Given the description of an element on the screen output the (x, y) to click on. 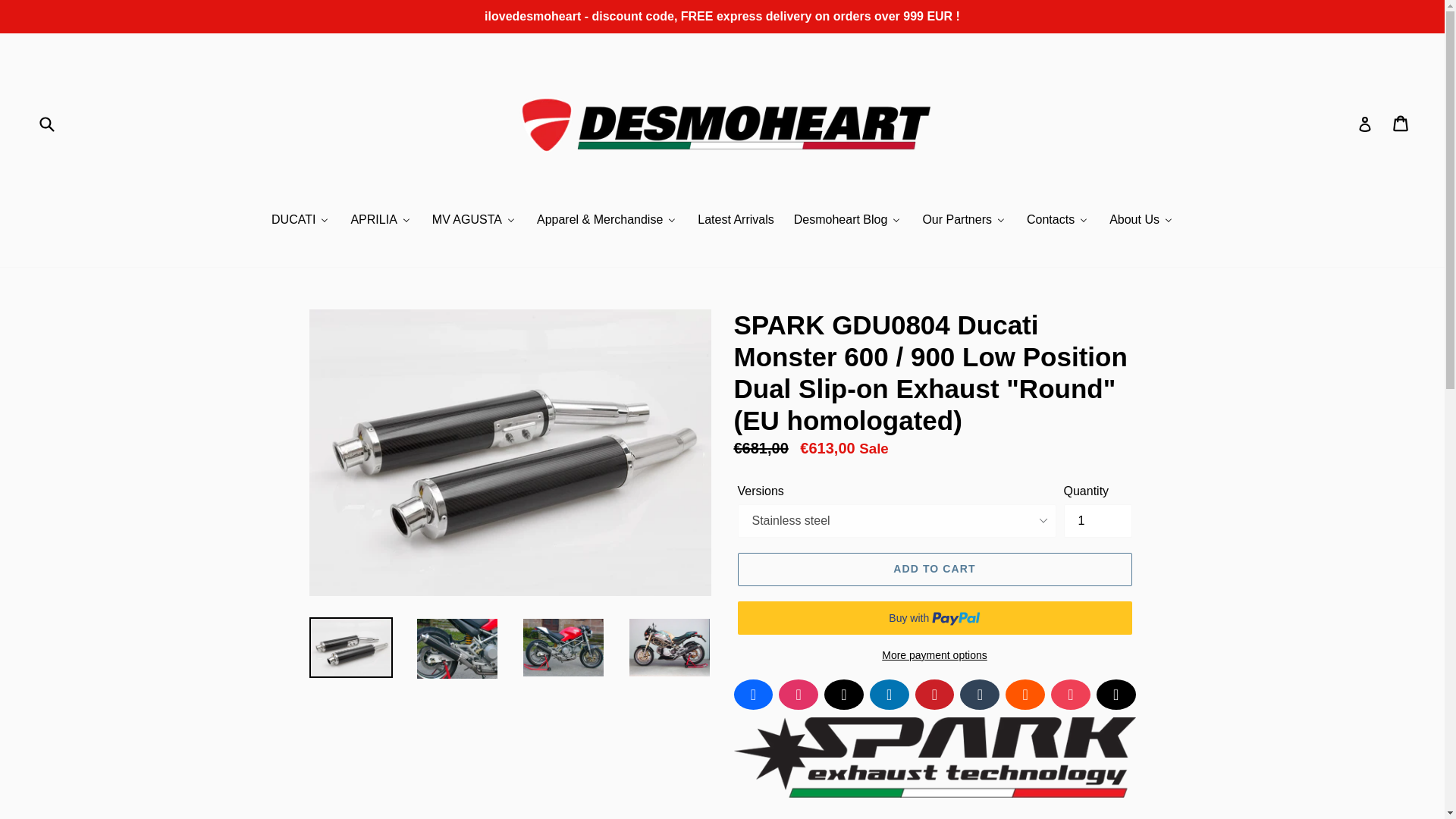
1 (1096, 520)
Submit (48, 122)
Cart (1401, 123)
Log in (1364, 123)
